Given the description of an element on the screen output the (x, y) to click on. 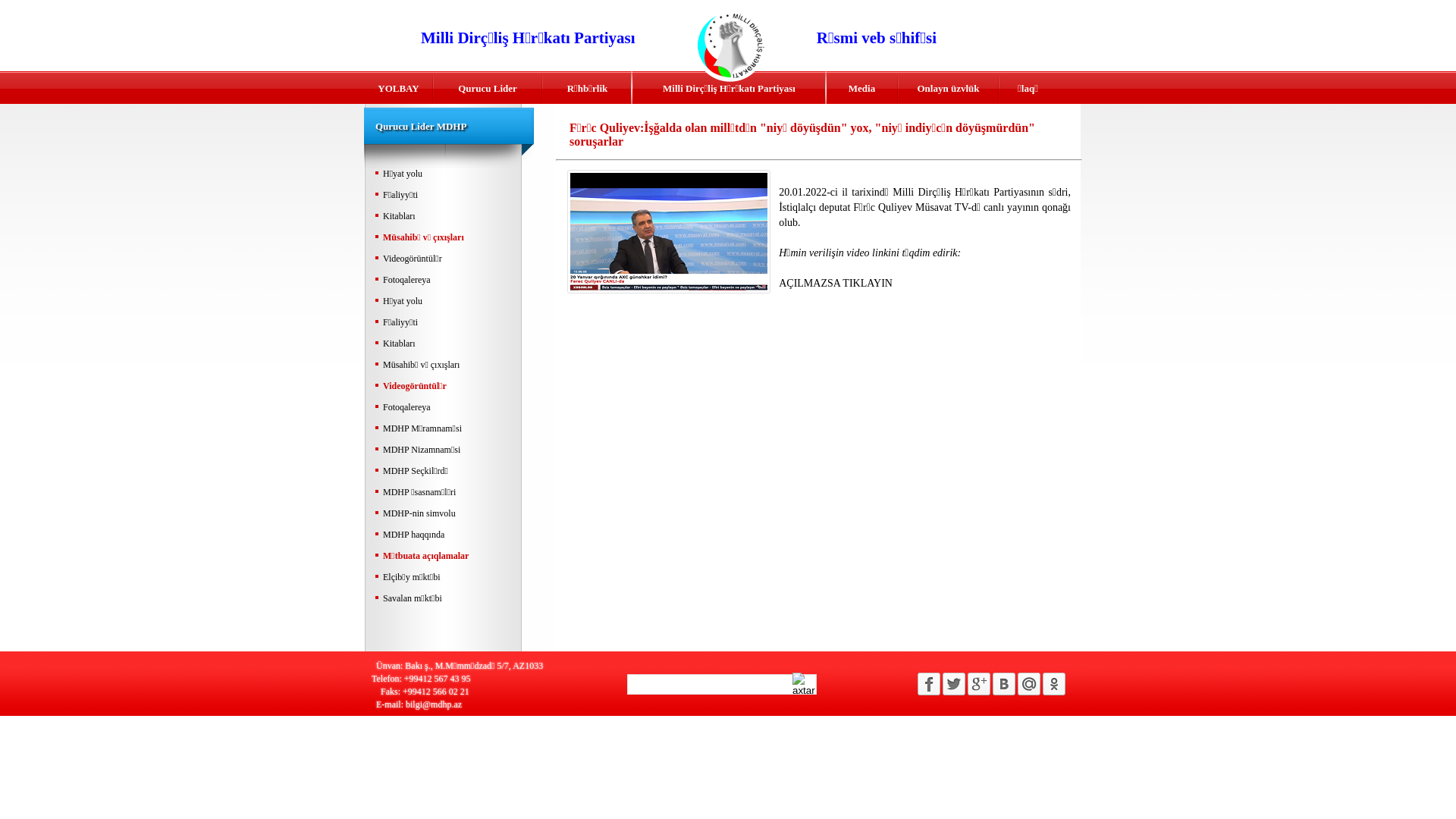
Qurucu Lider Element type: text (487, 93)
Telefon: +99412 567 43 95 Element type: text (485, 677)
  E-mail: bilgi@mdhp.az Element type: text (485, 703)
Fotoqalereya Element type: text (445, 407)
Fotoqalereya Element type: text (445, 279)
YouTube video player Element type: hover (794, 457)
    Faks: +99412 566 02 21 Element type: text (485, 690)
YOLBAY Element type: text (398, 93)
MDHP-nin simvolu Element type: text (445, 513)
Media Element type: text (861, 93)
axtar Element type: hover (804, 684)
